Given the description of an element on the screen output the (x, y) to click on. 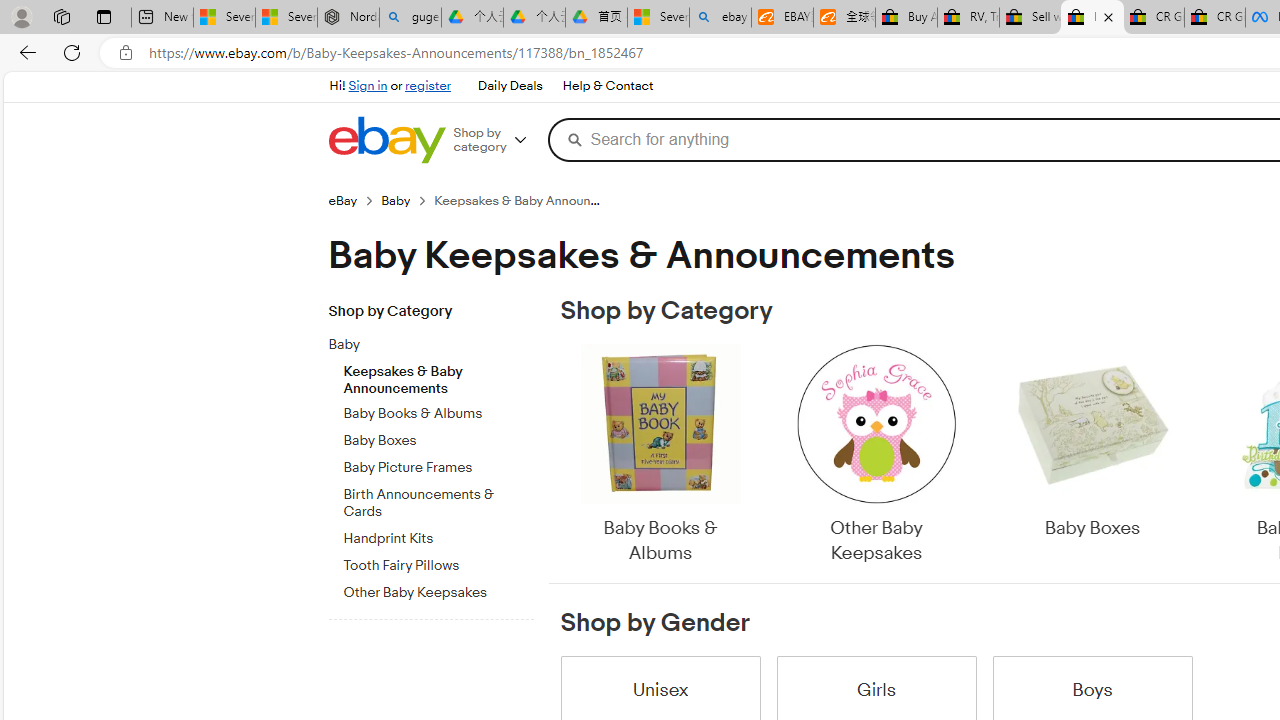
Help & Contact (607, 86)
Other Baby Keepsakes (875, 455)
eBay Home (386, 139)
eBay (354, 200)
Baby Books & Albums (660, 455)
Tooth Fairy Pillows (438, 562)
Handprint Kits (438, 535)
Baby (422, 345)
Baby Books & Albums (660, 455)
Baby Boxes (1092, 455)
Baby Keepsakes & Announcements for sale | eBay (1092, 17)
